Given the description of an element on the screen output the (x, y) to click on. 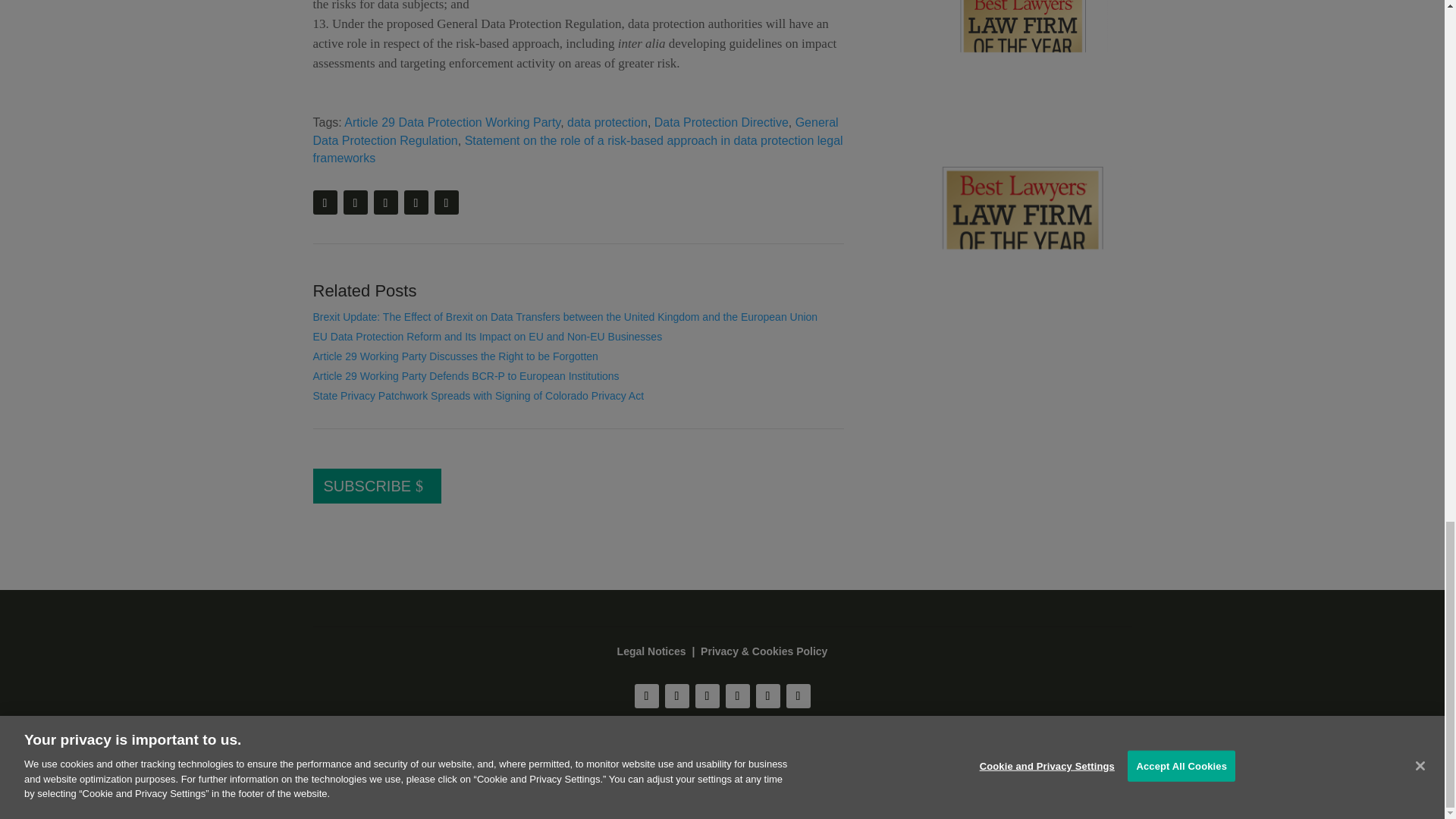
Data Protection Directive (721, 122)
Share on LinkedIn (445, 202)
E-Mail (354, 202)
data protection (607, 122)
General Data Protection Regulation (575, 131)
Print (324, 202)
Share on Facebook (415, 202)
Share on Twitter (384, 202)
Article 29 Data Protection Working Party (451, 122)
